Given the description of an element on the screen output the (x, y) to click on. 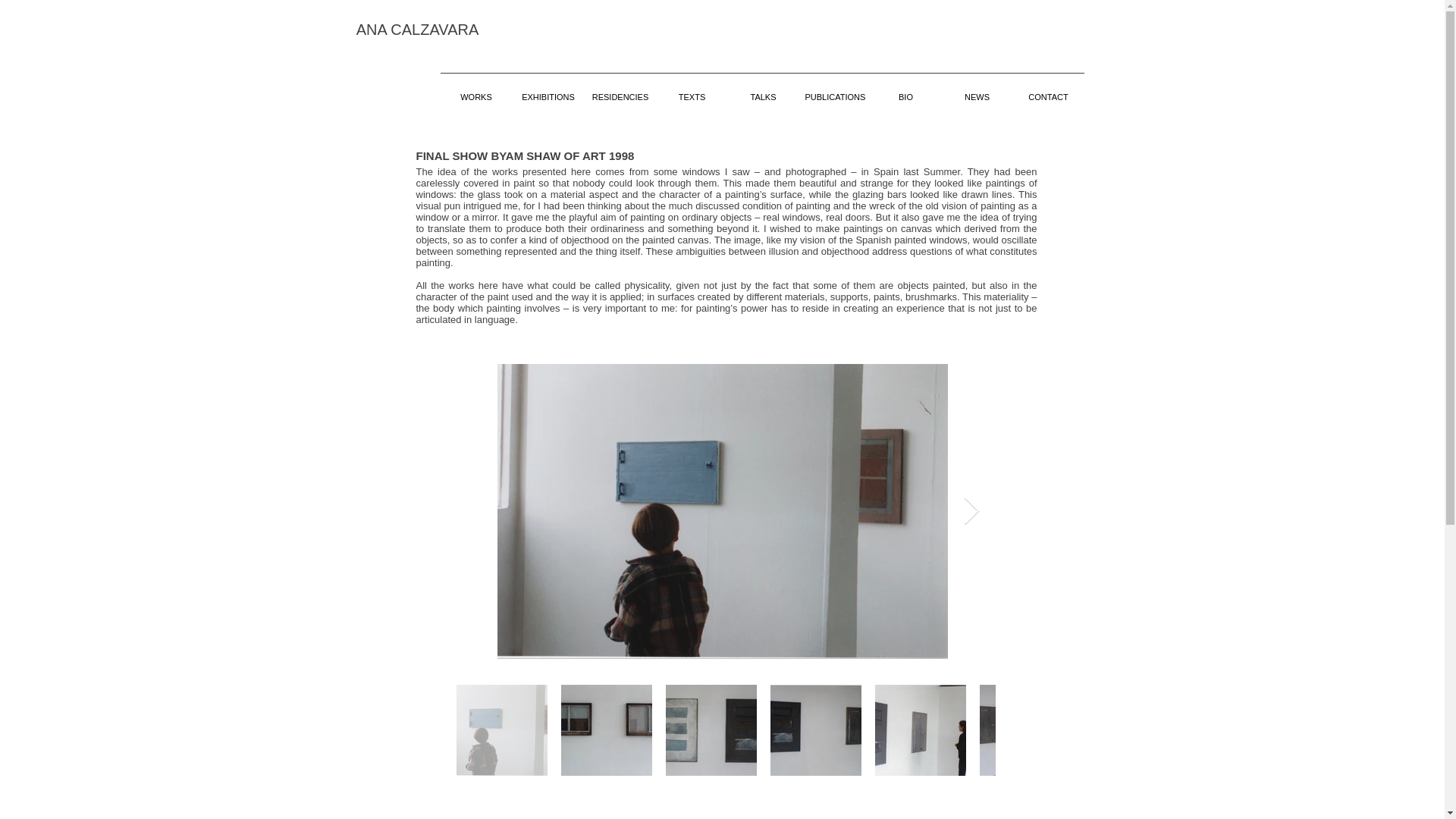
PUBLICATIONS (834, 89)
WORKS (475, 89)
CONTACT (1048, 89)
NEWS (977, 89)
RESIDENCIES (619, 89)
BIO (906, 89)
TEXTS (692, 89)
EXHIBITIONS (548, 89)
ANA CALZAVARA (417, 28)
TALKS (763, 89)
